Given the description of an element on the screen output the (x, y) to click on. 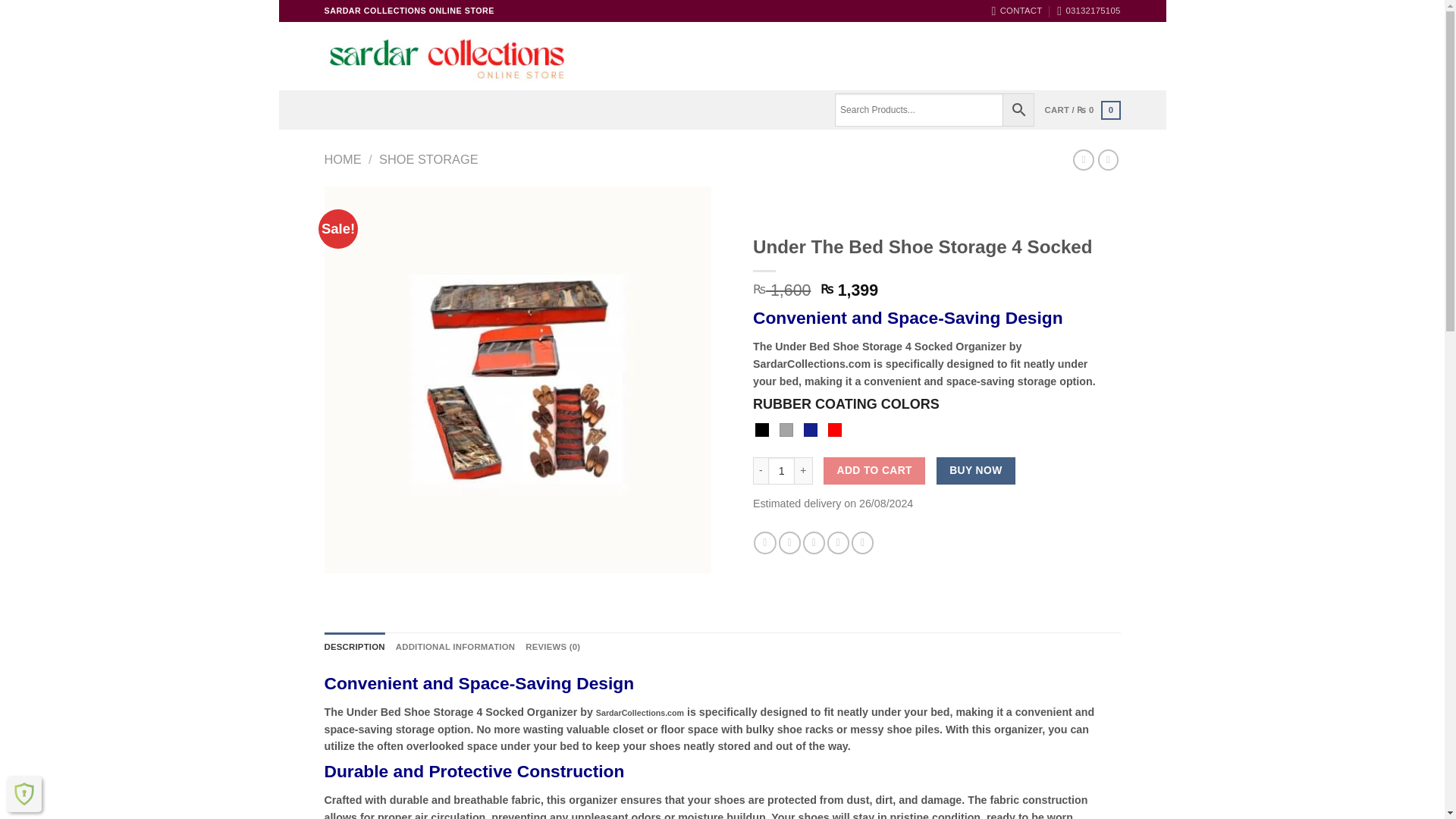
Pin on Pinterest (837, 542)
Share on LinkedIn (862, 542)
SHOE STORAGE (428, 159)
Home (861, 56)
SARDAR COLLECTION - We Make What You Want! (448, 55)
Share on Facebook (765, 542)
HOME (342, 159)
1 (781, 470)
Email to a Friend (814, 542)
Share on Twitter (789, 542)
